Given the description of an element on the screen output the (x, y) to click on. 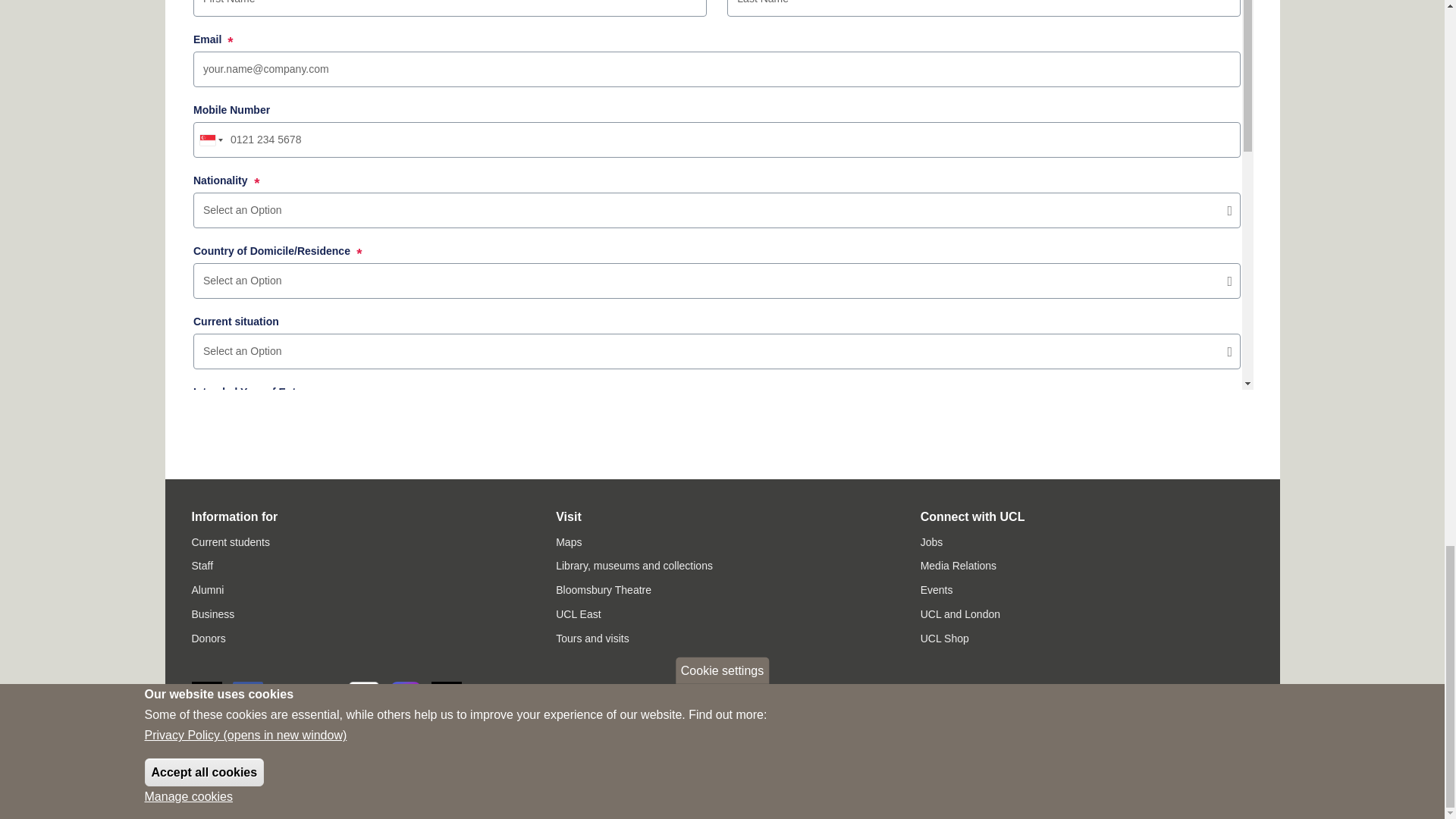
Jobs (931, 541)
Staff (201, 565)
Business (212, 613)
Donors (207, 638)
Maps (568, 541)
Bloomsbury Theatre (603, 589)
Current students (229, 541)
Tours and visits (592, 638)
UCL East (577, 613)
Media Relations (957, 565)
Library, museums and collections (634, 565)
Alumni (207, 589)
